Given the description of an element on the screen output the (x, y) to click on. 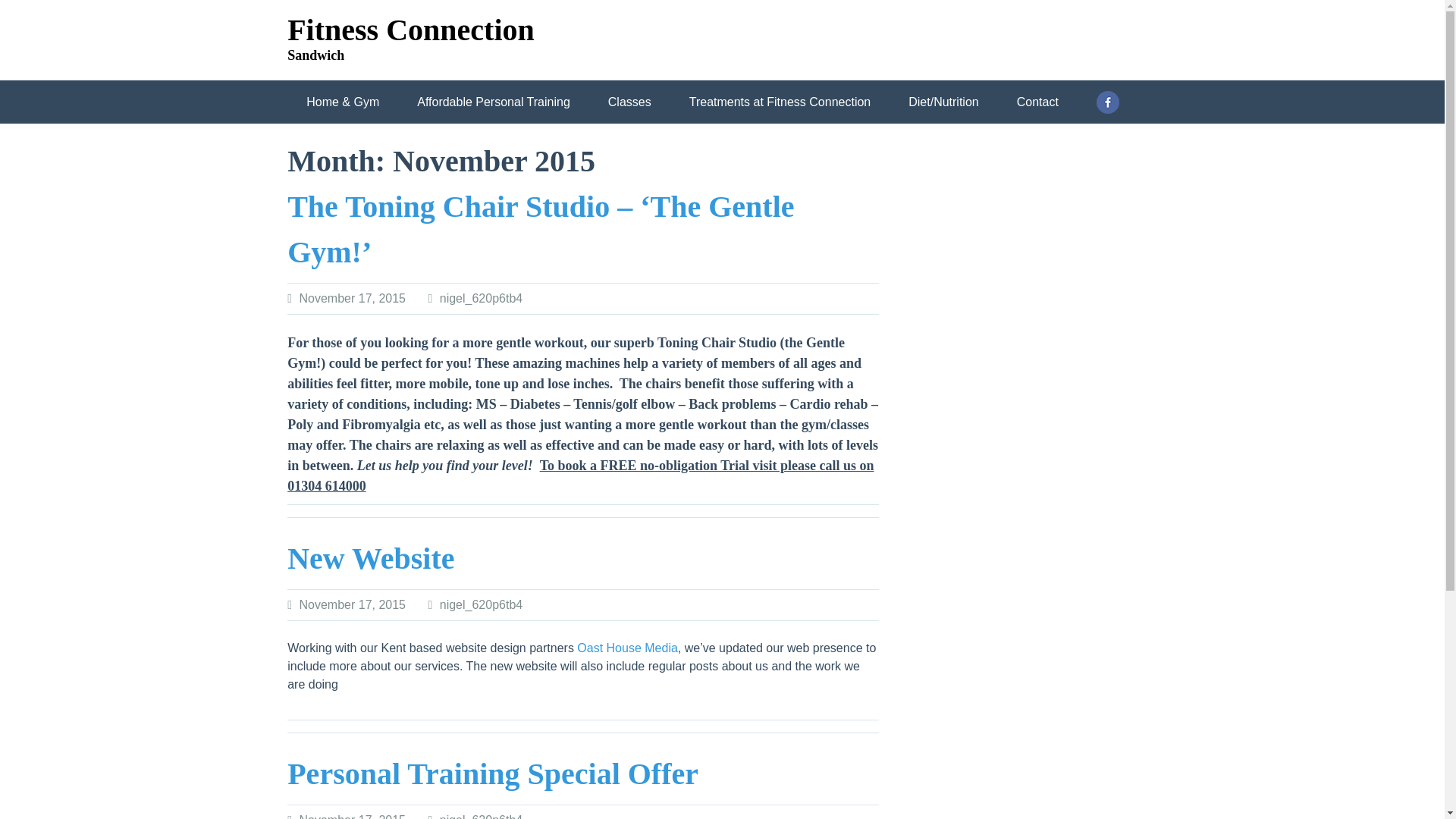
Contact (326, 195)
Diet and Nutrition (536, 152)
Contact (1037, 101)
Treatments at Fitness Connection (779, 101)
Massage and treatments (688, 152)
November 17, 2015 (352, 816)
November 17, 2015 (352, 604)
Oast House Media (627, 647)
Classes (629, 101)
Fitness Classes (836, 152)
Affordable Personal Training (993, 152)
Diet and Nutrition (603, 195)
Affordable Personal Training (1059, 195)
November 17, 2015 (352, 297)
Personal Training Special Offer (492, 773)
